Given the description of an element on the screen output the (x, y) to click on. 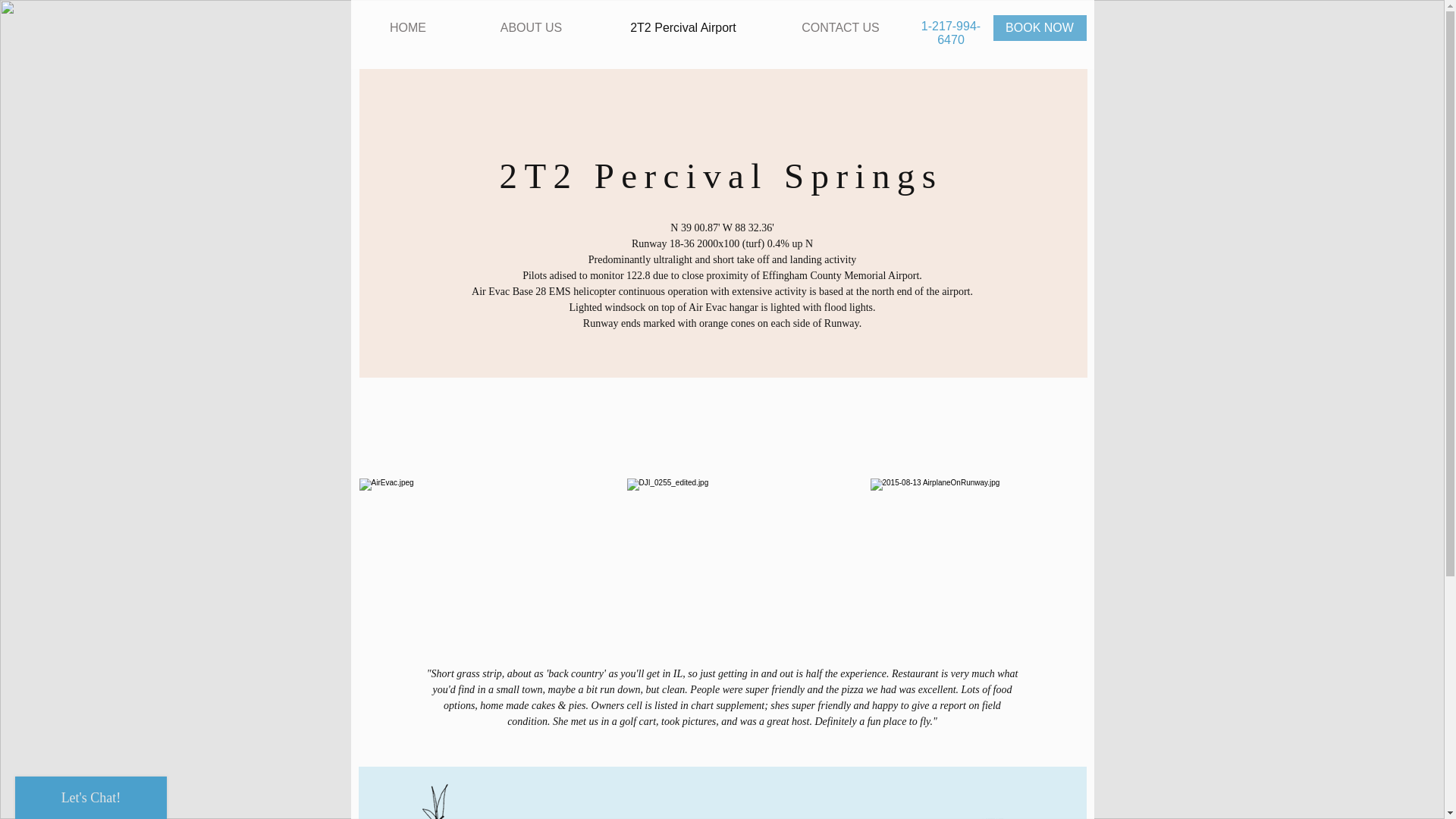
Wix Chat (87, 794)
2T2 Percival Airport (682, 27)
CONTACT US (840, 27)
BOOK NOW (1039, 27)
HOME (408, 27)
ABOUT US (530, 27)
